Given the description of an element on the screen output the (x, y) to click on. 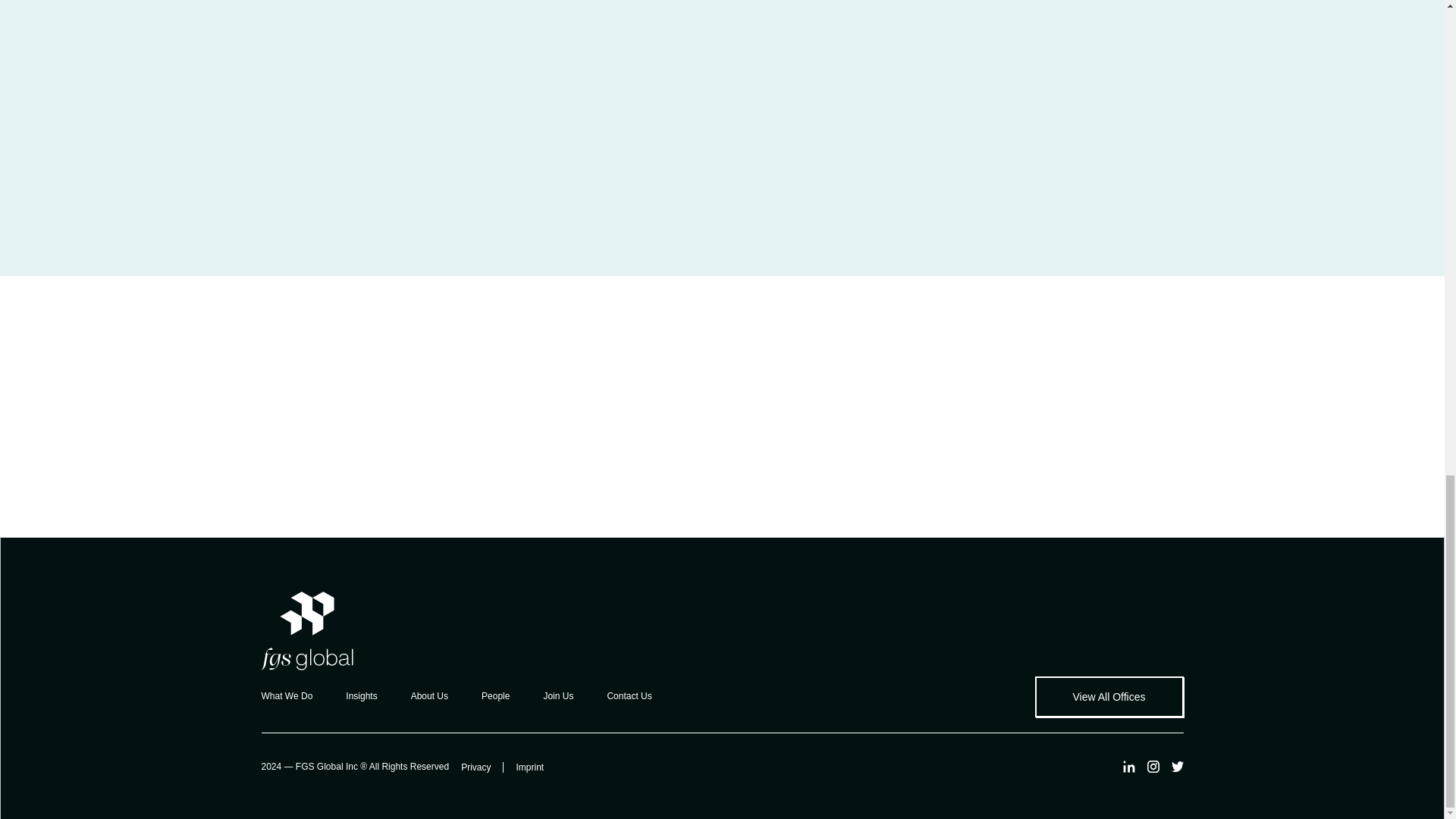
View All Offices (1109, 696)
Privacy (482, 766)
Contact Us (628, 695)
Insights (361, 695)
People (495, 695)
What We Do (286, 695)
Imprint (535, 766)
Join Us (558, 695)
About Us (429, 695)
